Given the description of an element on the screen output the (x, y) to click on. 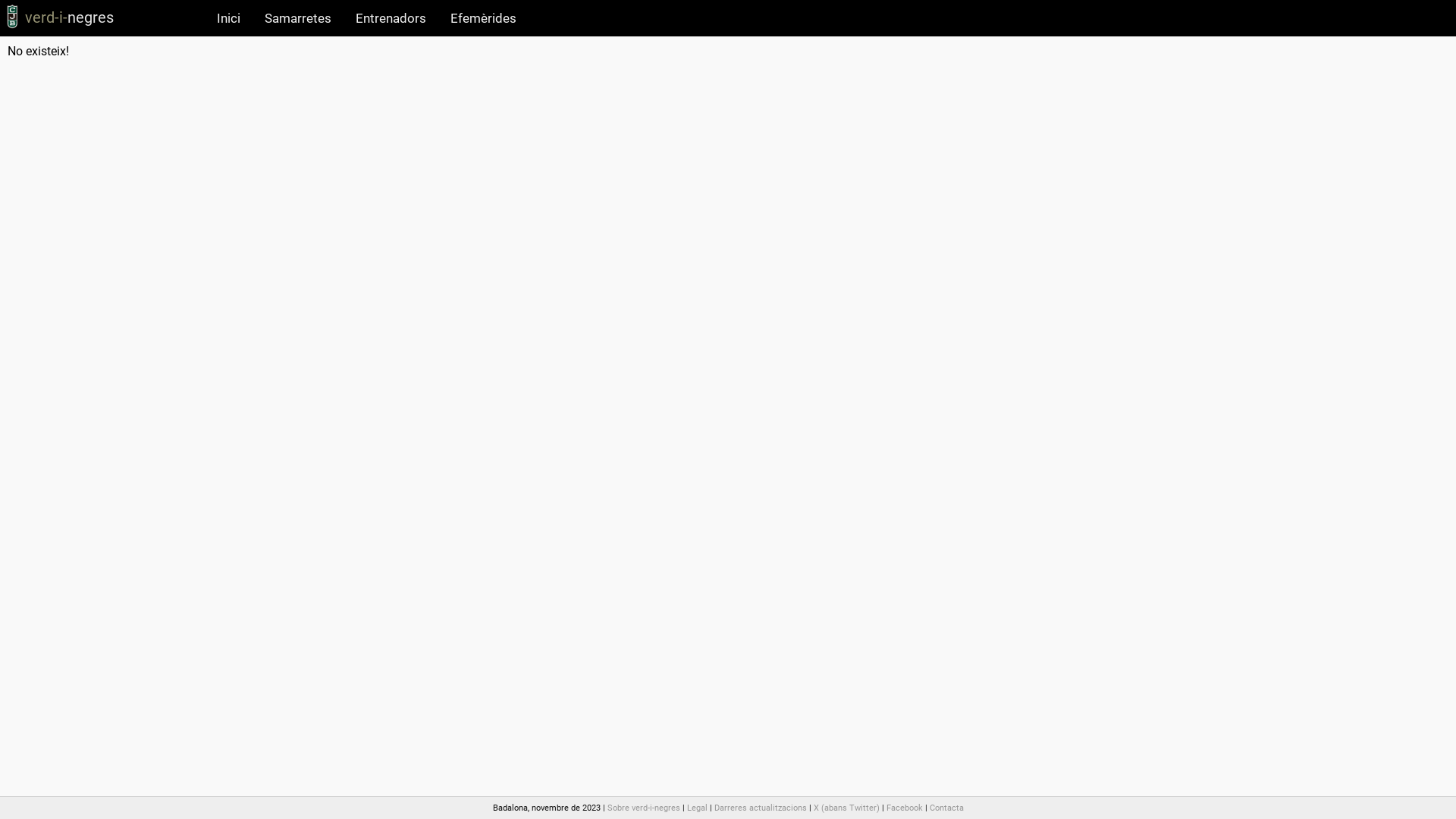
Samarretes Element type: text (297, 18)
Sobre verd-i-negres Element type: text (642, 807)
Facebook Element type: text (903, 807)
Legal Element type: text (697, 807)
Inici Element type: text (228, 18)
Entrenadors Element type: text (390, 18)
X (abans Twitter) Element type: text (845, 807)
Contacta Element type: text (946, 807)
Darreres actualitzacions Element type: text (760, 807)
